Given the description of an element on the screen output the (x, y) to click on. 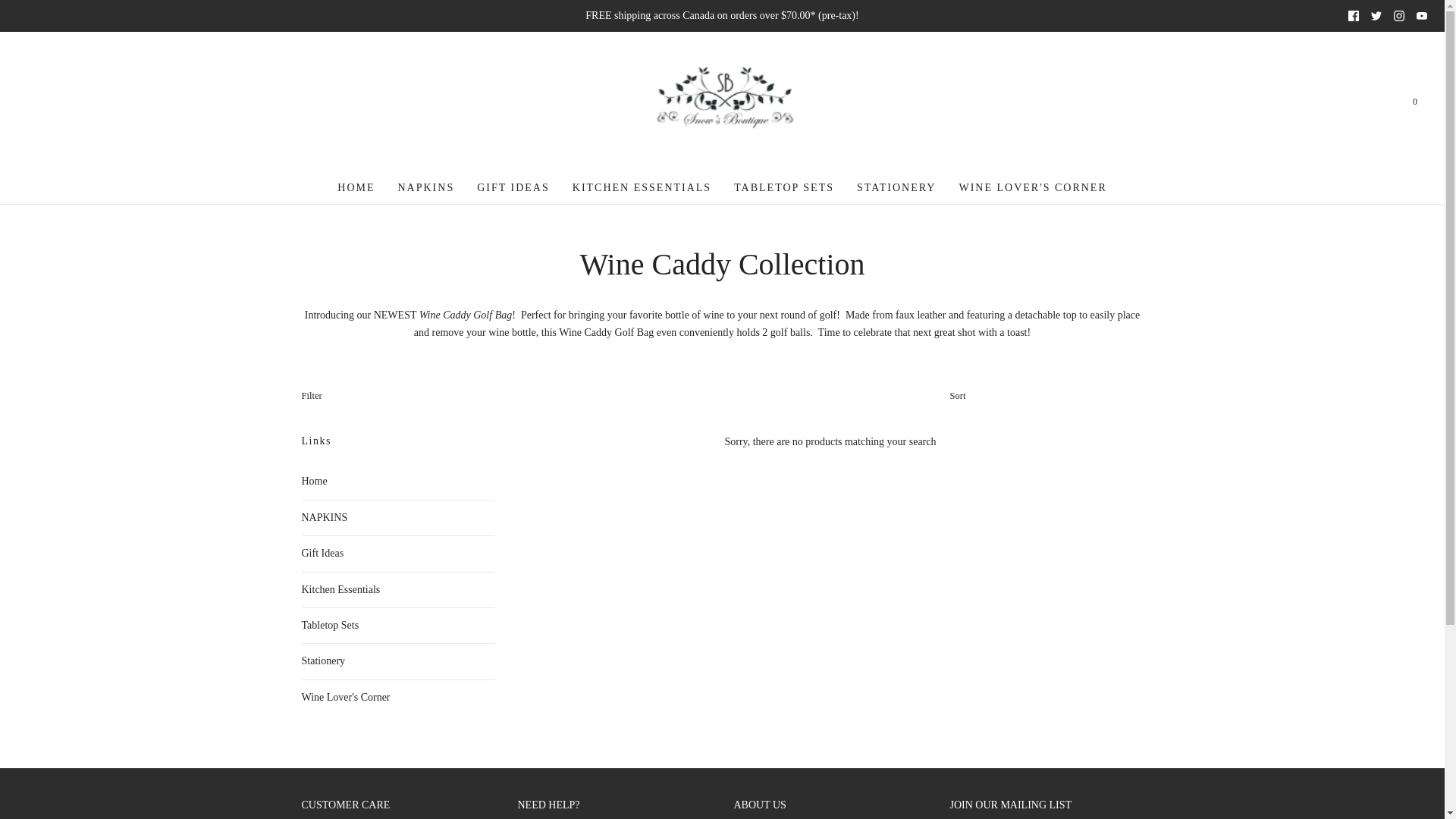
YouTube icon (1421, 15)
Twitter icon (1376, 15)
Twitter icon (1376, 15)
Instagram icon (1399, 15)
Facebook icon (1353, 15)
Instagram icon (1399, 15)
YouTube icon (1421, 15)
Facebook icon (1353, 15)
Cart (1414, 101)
